Given the description of an element on the screen output the (x, y) to click on. 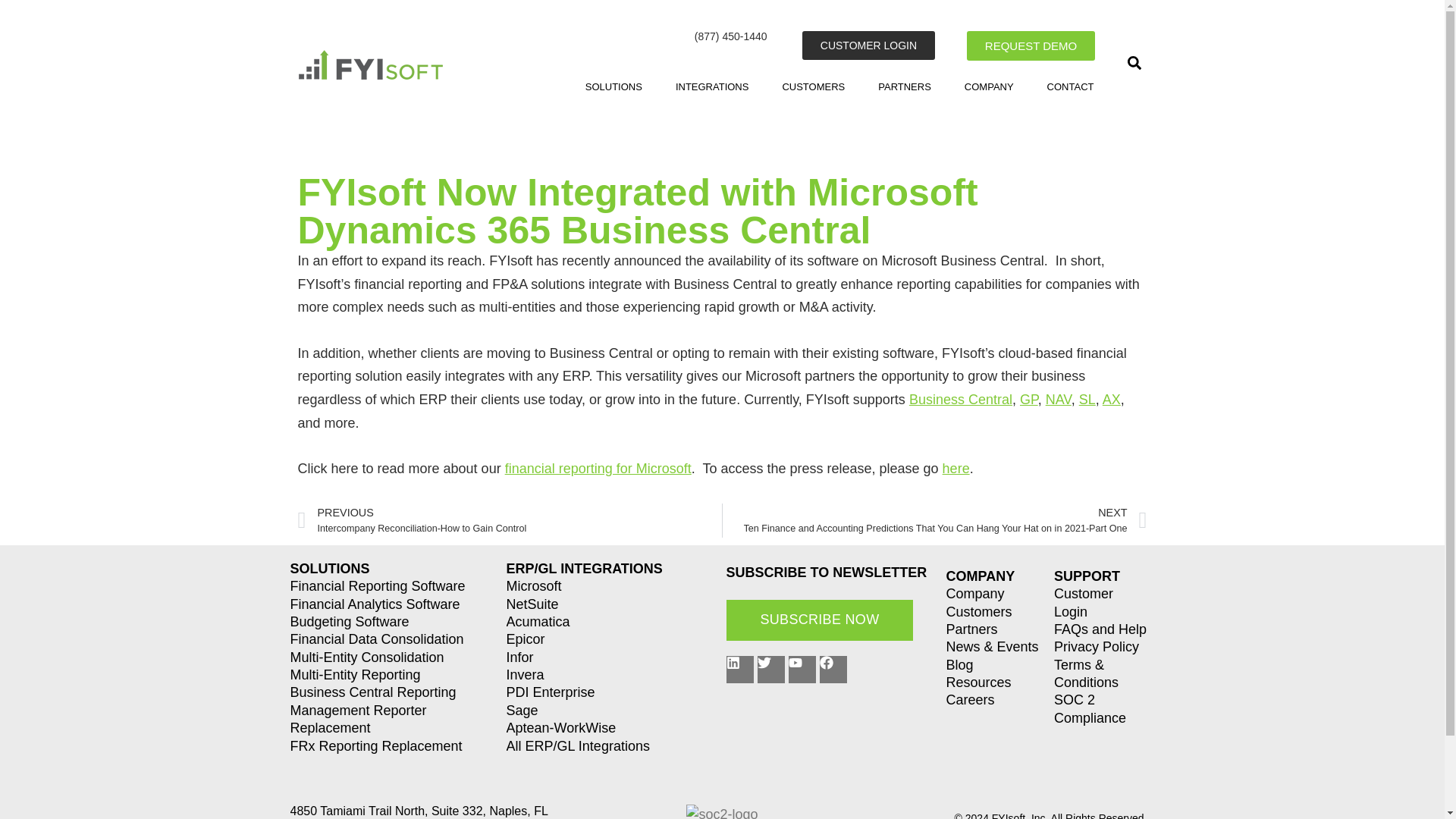
CONTACT (1069, 86)
COMPANY (989, 86)
REQUEST DEMO (1030, 45)
CUSTOMERS (812, 86)
INTEGRATIONS (711, 86)
PARTNERS (903, 86)
CUSTOMER LOGIN (868, 45)
soc2-logo (721, 811)
SOLUTIONS (613, 86)
